Given the description of an element on the screen output the (x, y) to click on. 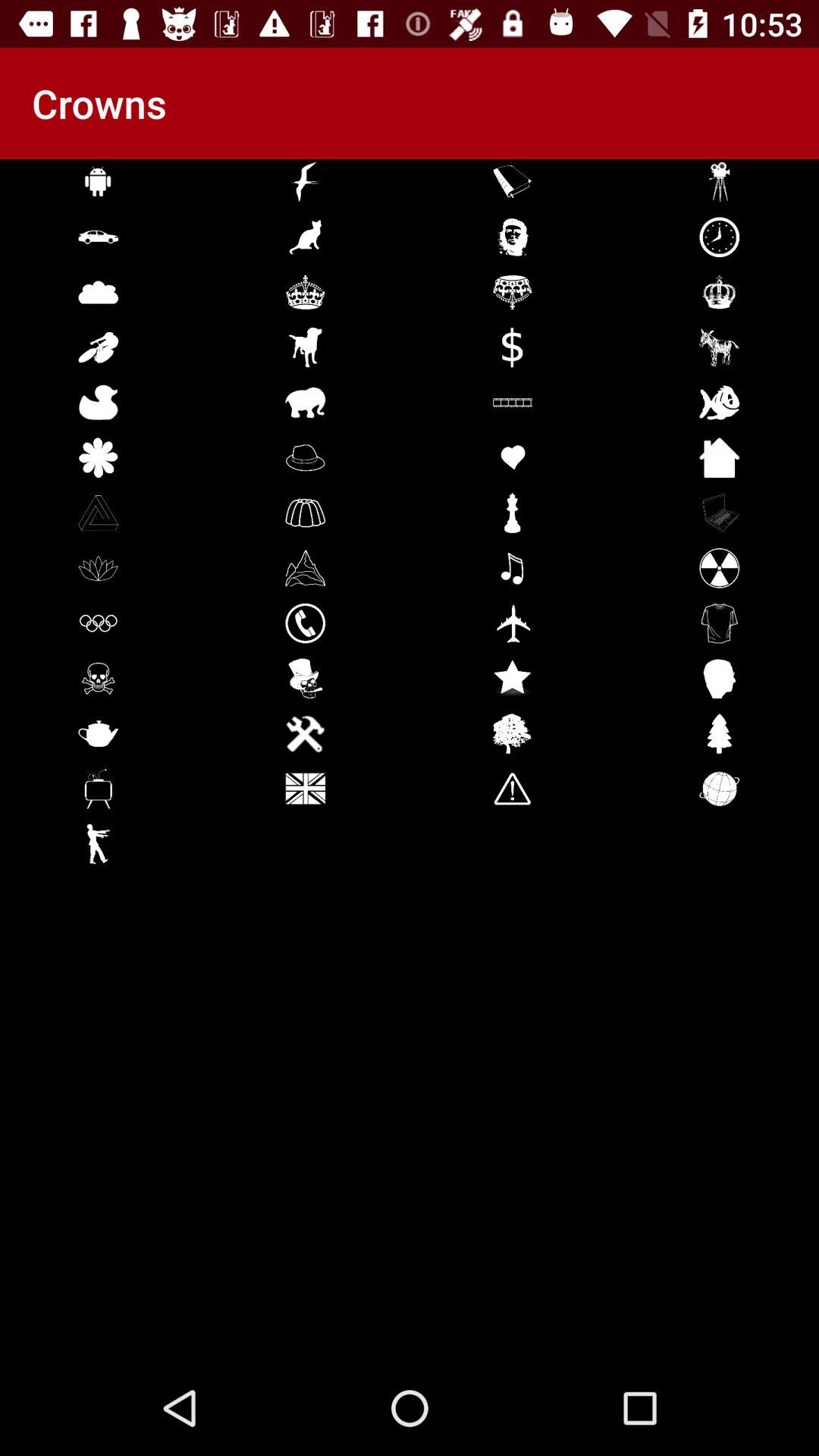
select the eight icon which is below crowns on the left side of the page (98, 567)
click on the clock icon (719, 237)
click on the third image in the fifth row (512, 402)
select the icon 4th row first one (98, 346)
select  the third icon in the second row (512, 237)
select the crown symbol which is below cat symbol (305, 292)
click on the icon which is at fifth row second column (305, 402)
move the icon symbol which is above the elephant icon symbol (305, 346)
